Given the description of an element on the screen output the (x, y) to click on. 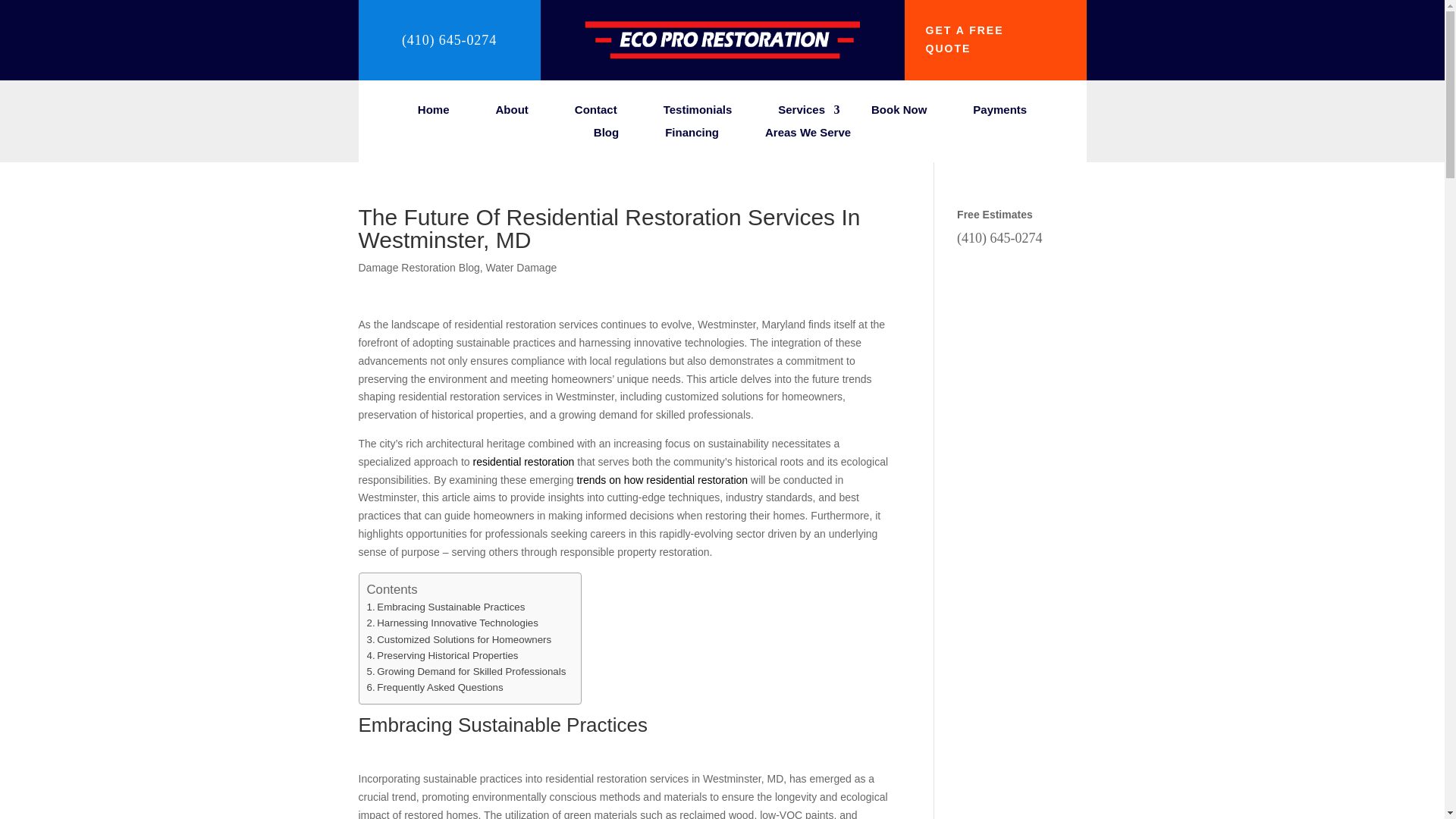
Book Now (898, 112)
residential restoration (524, 461)
About (511, 112)
Preserving Historical Properties (442, 655)
Areas We Serve (808, 135)
Embracing Sustainable Practices (445, 606)
Harnessing Innovative Technologies (452, 622)
Customized Solutions for Homeowners (458, 639)
Eco-Pro-New-Logo-2 (722, 55)
Testimonials (696, 112)
Damage Restoration Blog (418, 267)
GET A FREE QUOTE (995, 40)
Services (801, 112)
trends on how residential restoration (662, 480)
Water Damage (521, 267)
